Given the description of an element on the screen output the (x, y) to click on. 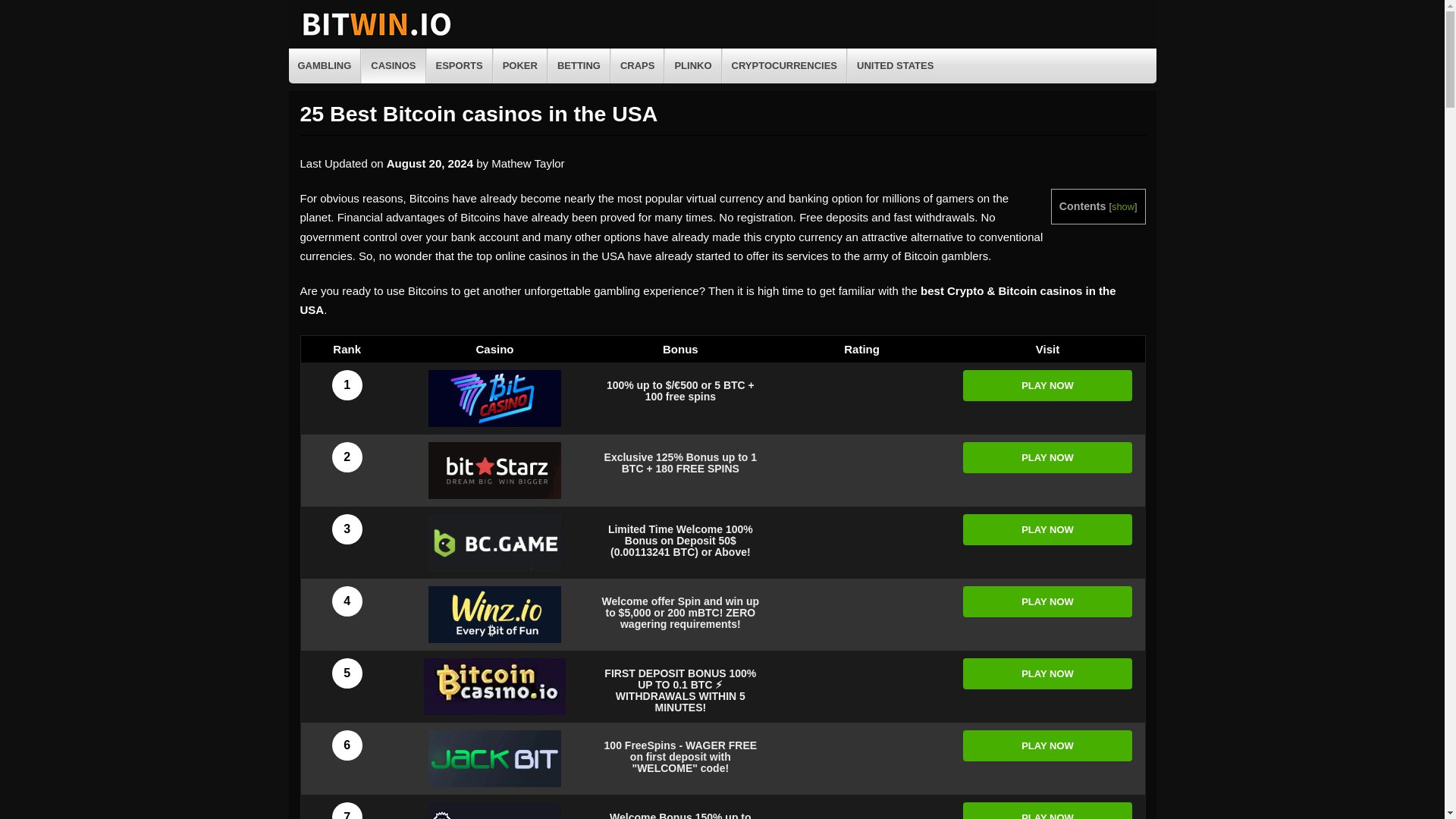
Bitcoincasino.io (494, 686)
JackBit (494, 758)
Bitstarz (494, 470)
BC.game (494, 542)
CryptoLeo (494, 810)
Bitcoin Gambling Guide (375, 36)
Winz.io (494, 614)
7BitCasino (494, 398)
